Given the description of an element on the screen output the (x, y) to click on. 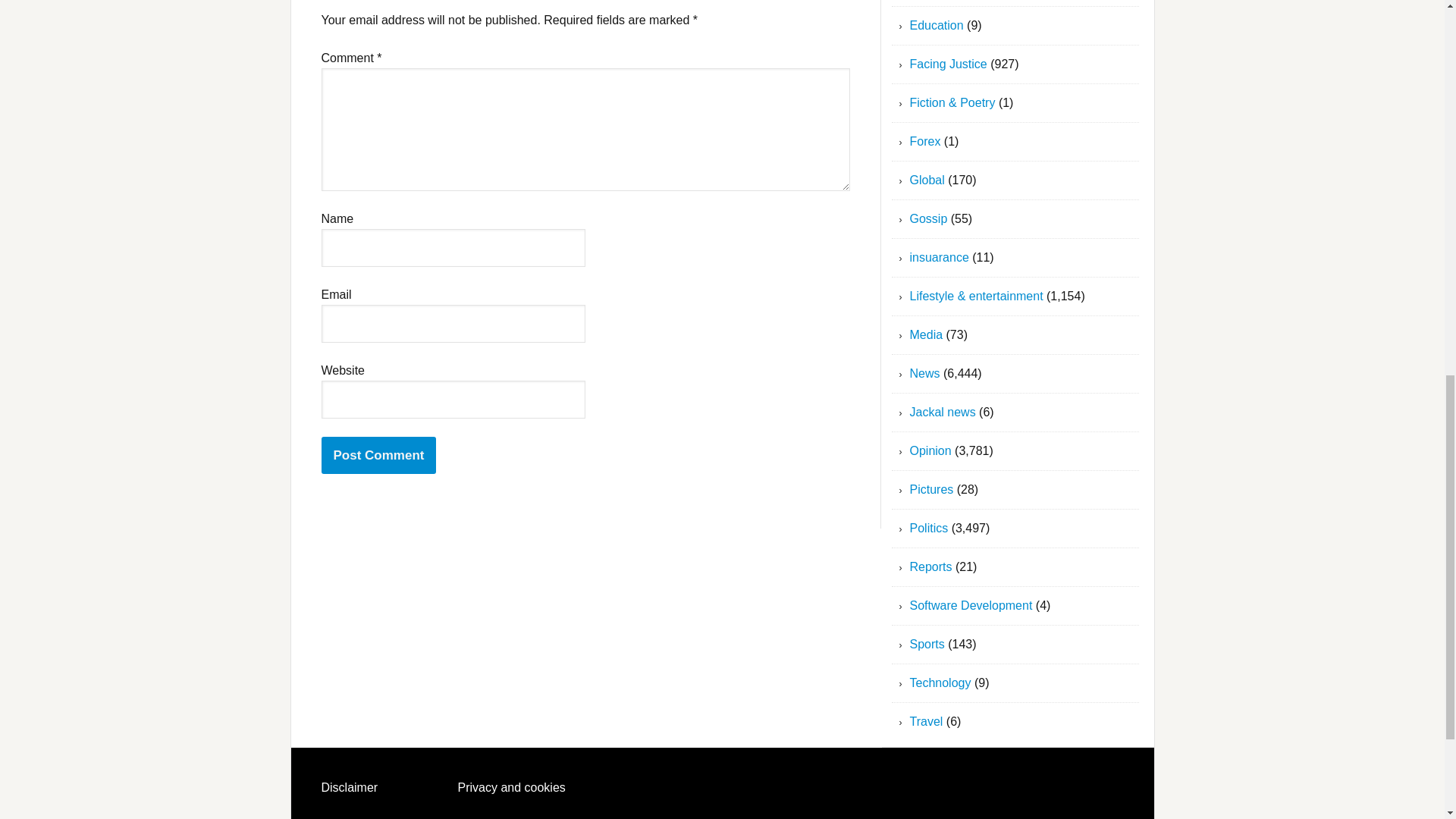
Post Comment (378, 455)
Forex (925, 141)
Reports (931, 566)
Education (936, 24)
Opinion (931, 450)
News (925, 373)
Pictures (931, 489)
Global (927, 179)
Politics (929, 527)
Jackal news (942, 411)
Post Comment (378, 455)
Media (926, 334)
Gossip (928, 218)
insuarance (939, 256)
Facing Justice (948, 63)
